Given the description of an element on the screen output the (x, y) to click on. 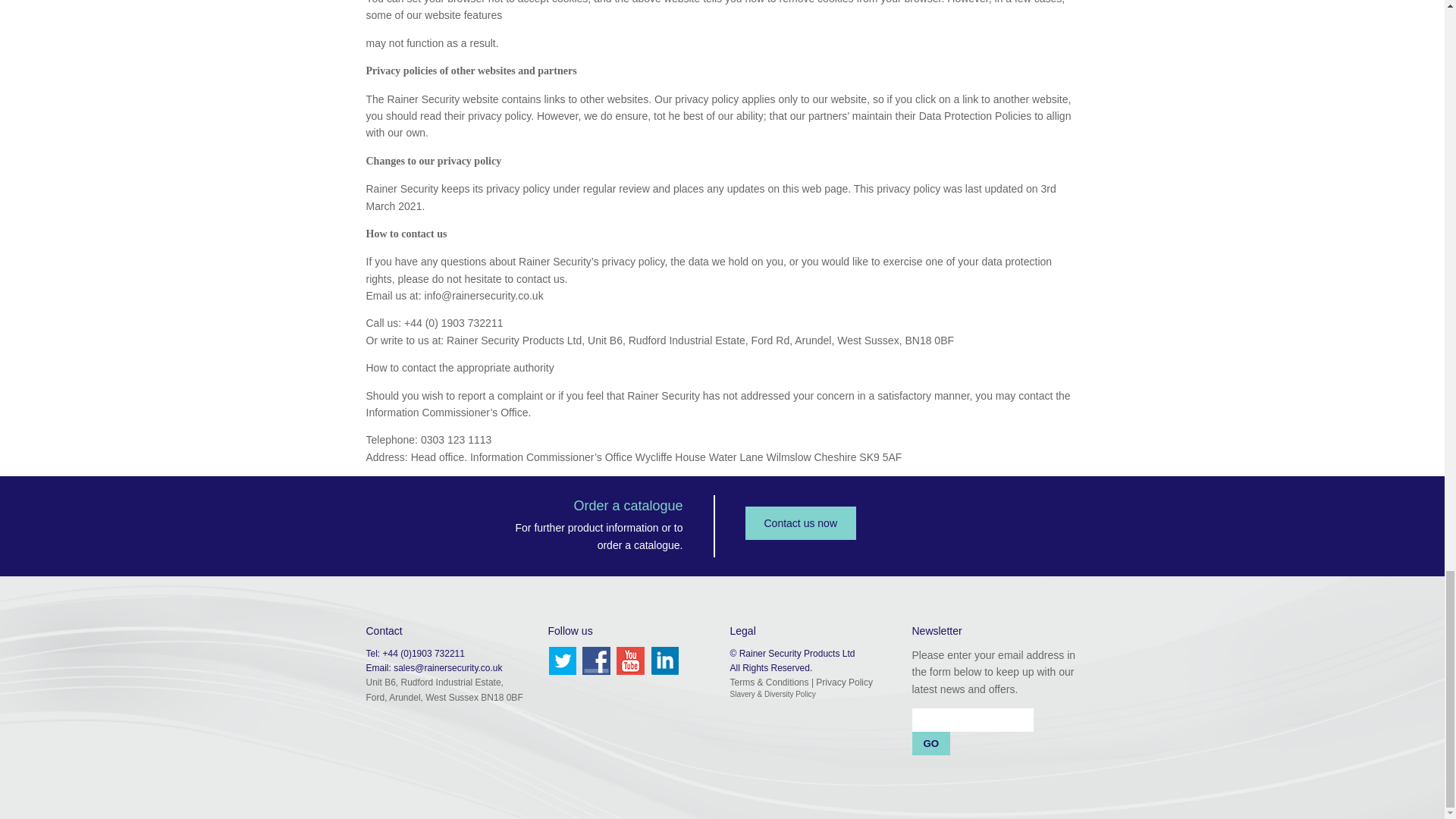
GO (930, 743)
Page 3 (721, 11)
